Given the description of an element on the screen output the (x, y) to click on. 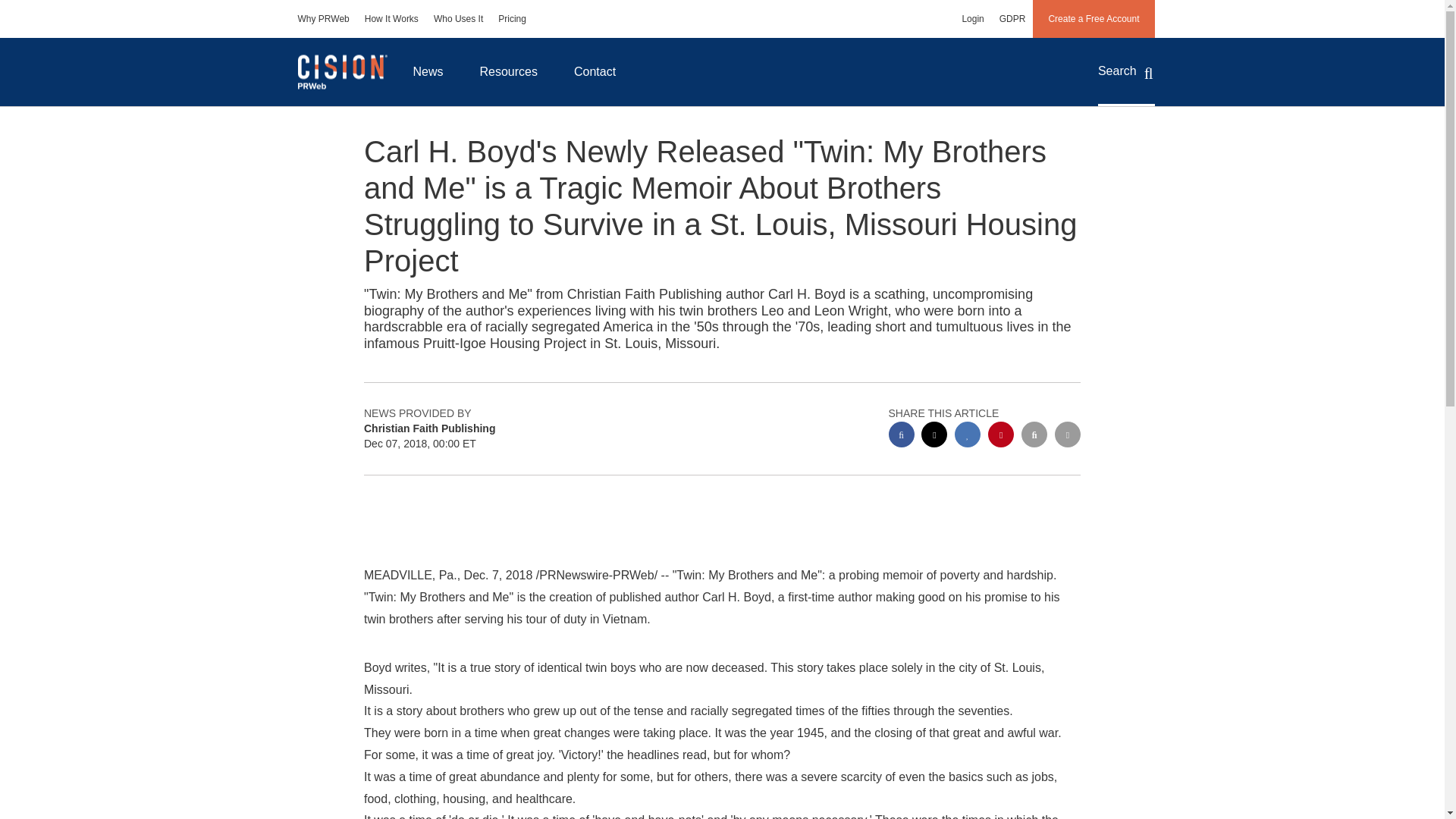
Who Uses It (458, 18)
How It Works (391, 18)
Resources (508, 71)
Login (972, 18)
GDPR (1012, 18)
Pricing (512, 18)
News (427, 71)
Why PRWeb (322, 18)
Contact (594, 71)
Create a Free Account (1093, 18)
